Given the description of an element on the screen output the (x, y) to click on. 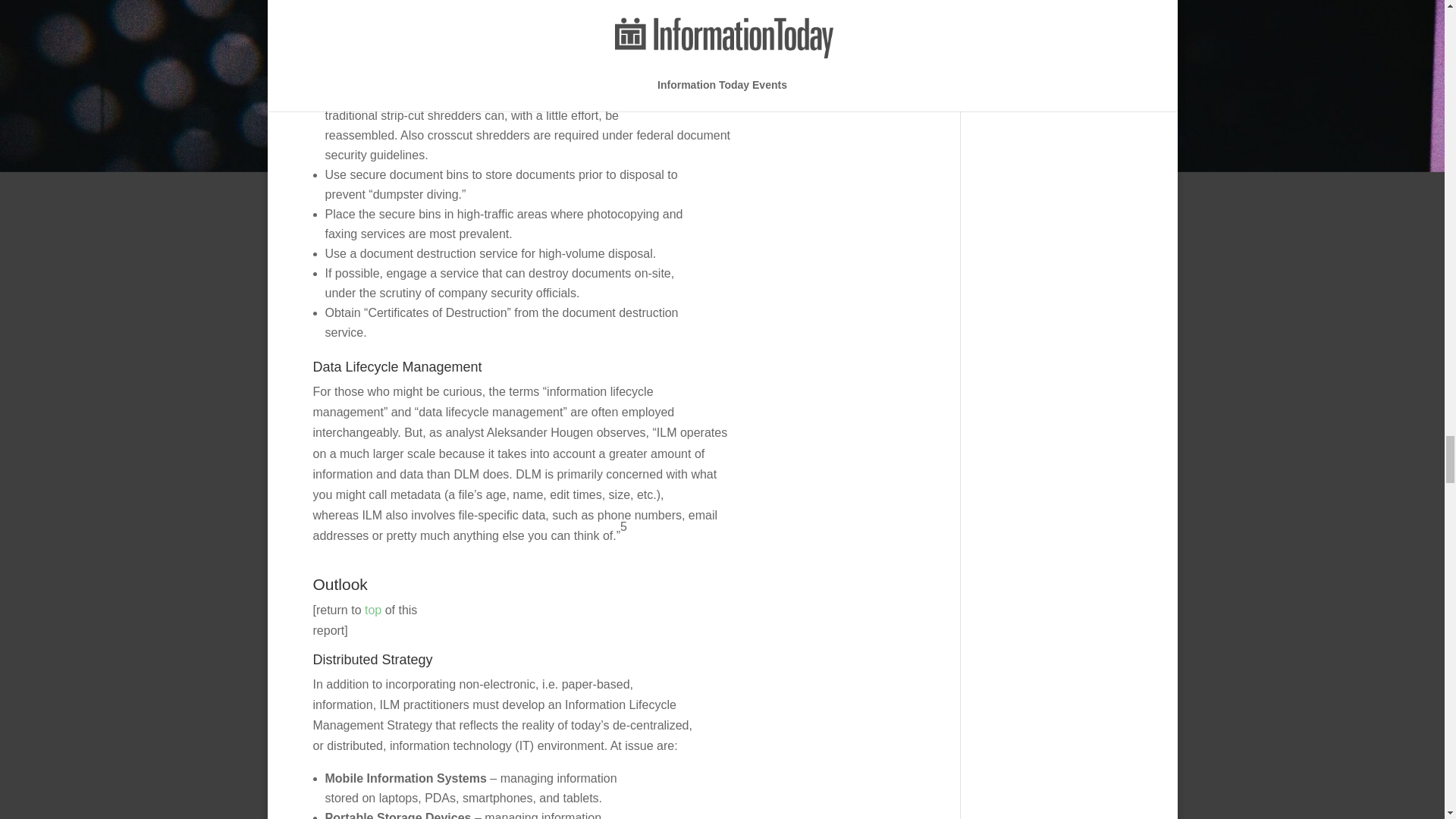
top (373, 609)
Return to top of page (373, 609)
